Given the description of an element on the screen output the (x, y) to click on. 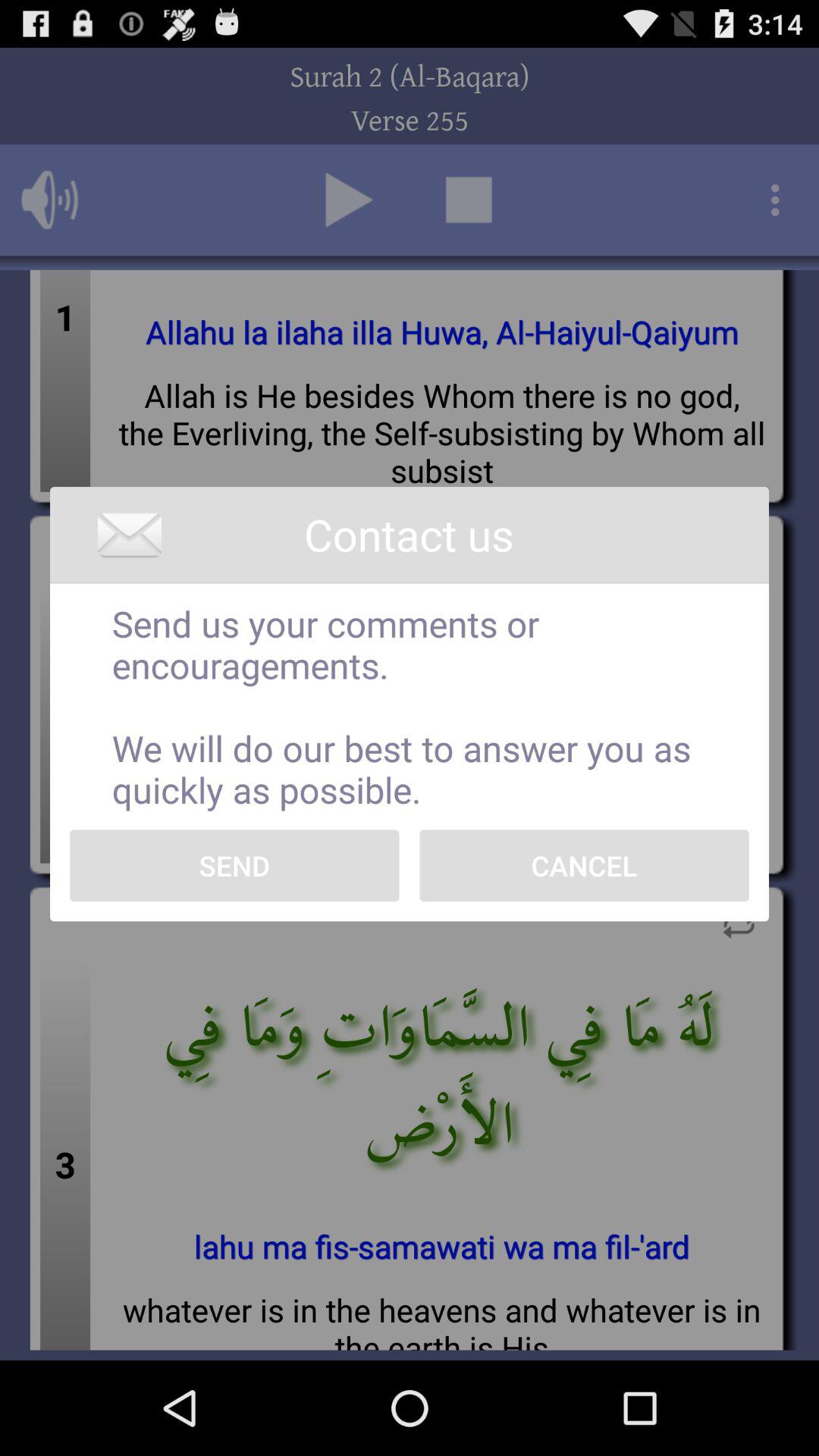
choose icon to the right of the send icon (584, 865)
